Given the description of an element on the screen output the (x, y) to click on. 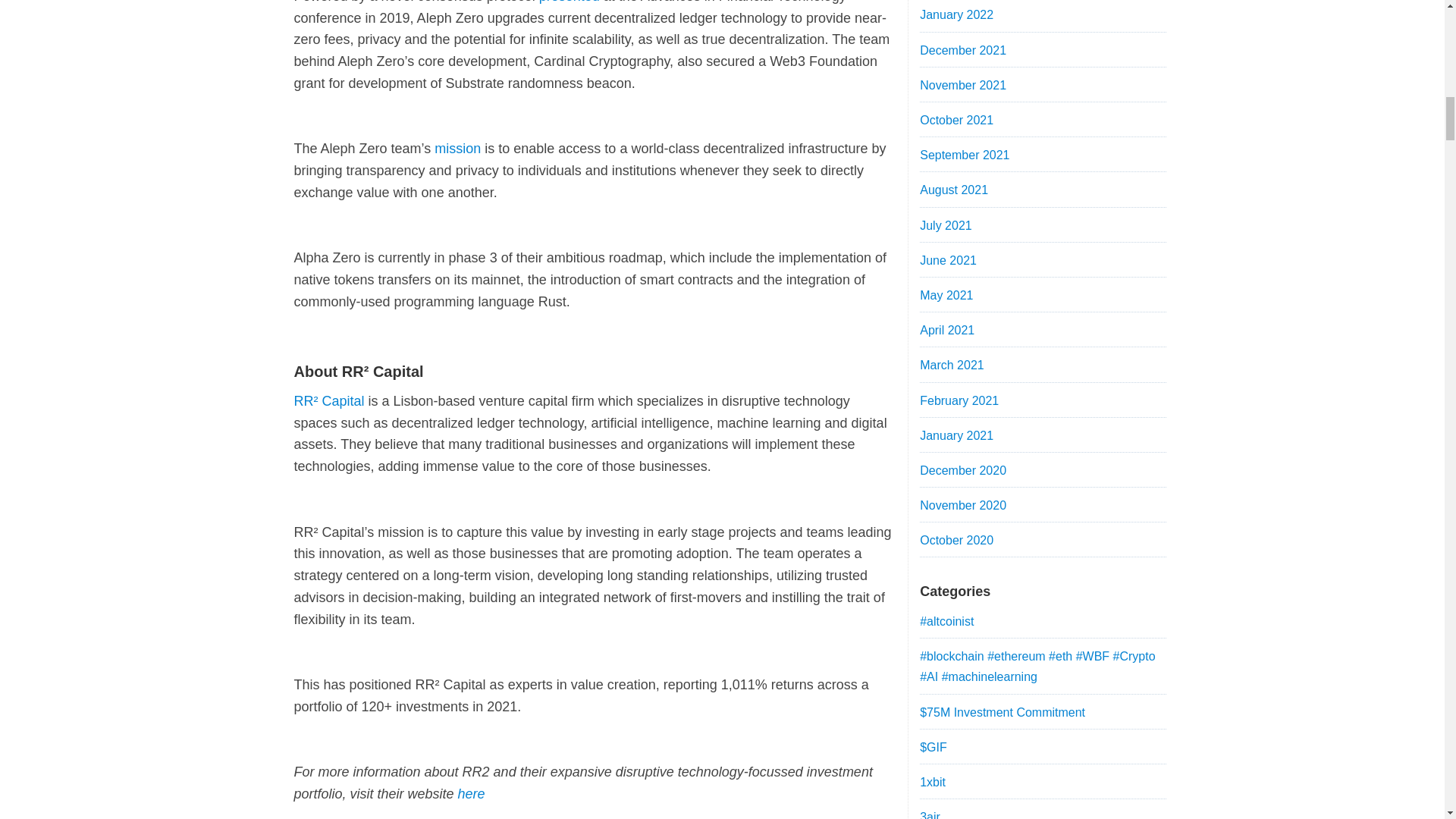
presented (568, 2)
mission (456, 148)
here (471, 793)
